Given the description of an element on the screen output the (x, y) to click on. 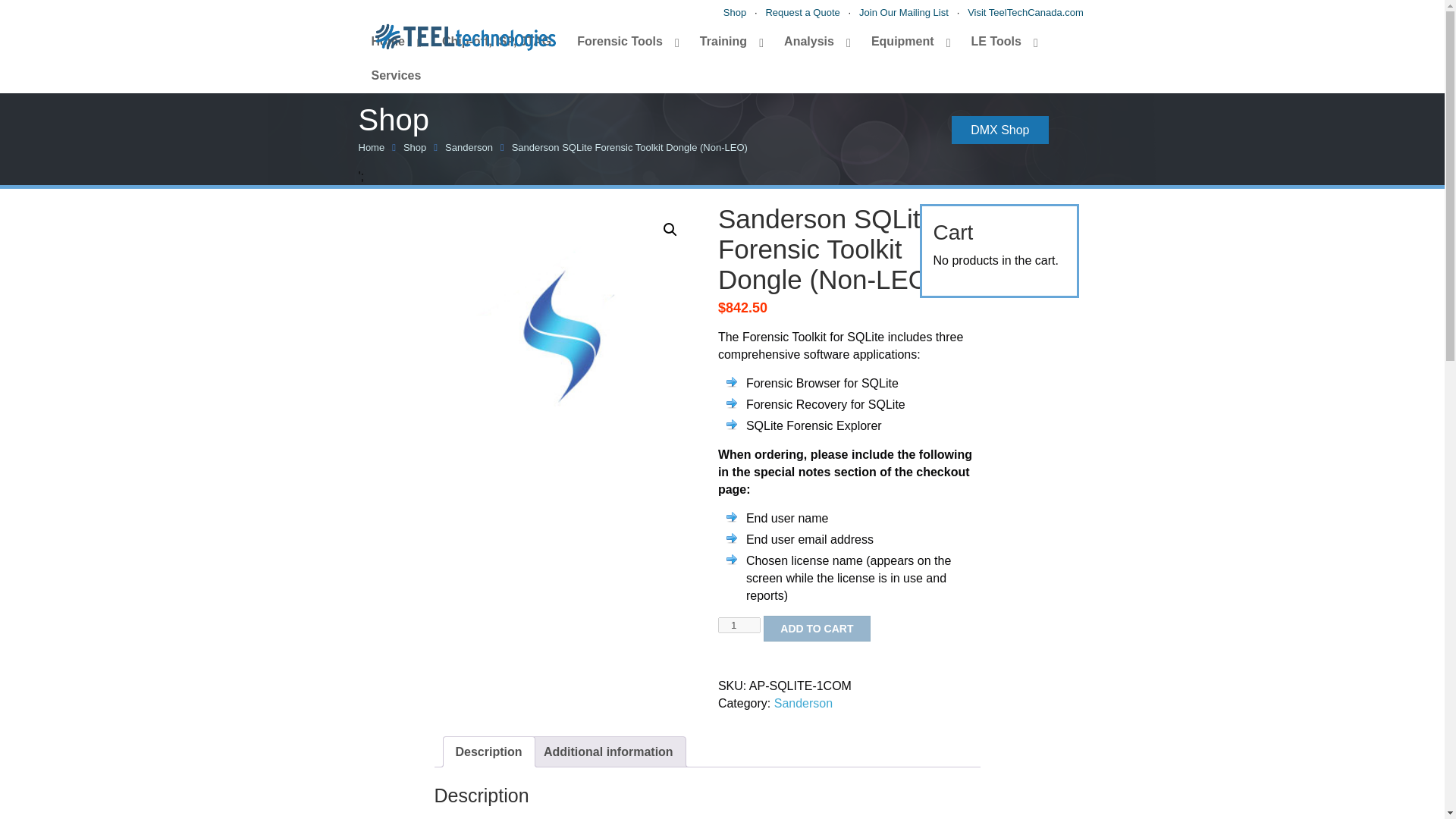
Teel Technologies (464, 28)
Home (393, 41)
Facebook (713, 49)
L (732, 49)
Request a Quote (802, 12)
LinkedIn (752, 49)
Chip-off, ISP, JTAG (496, 41)
F (713, 49)
Visit TeelTechCanada.com (1025, 12)
sanderson-thmb (564, 334)
Search (1040, 48)
Join Our Mailing List (904, 12)
Search (1040, 48)
1 (738, 625)
I (752, 49)
